Given the description of an element on the screen output the (x, y) to click on. 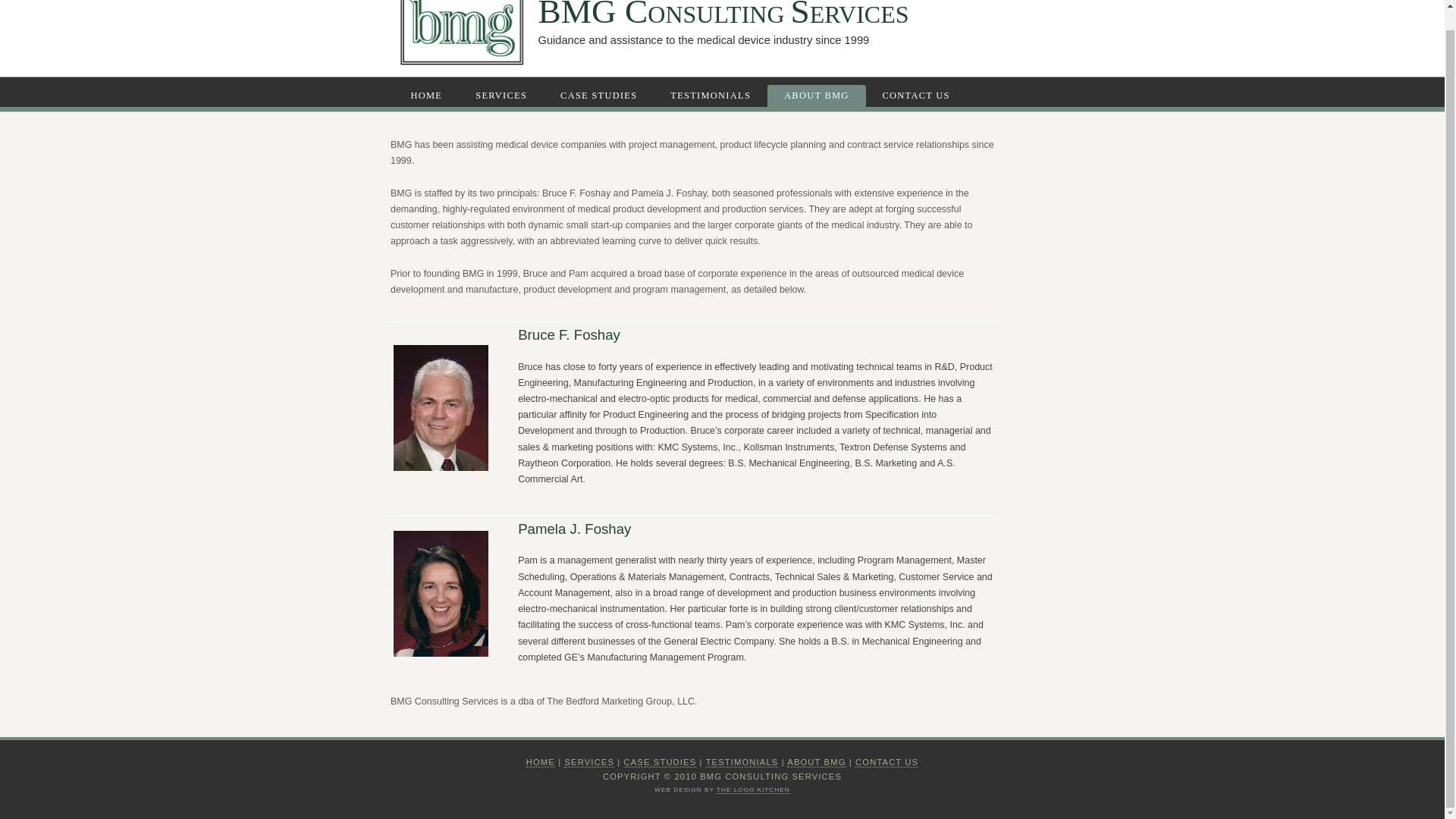
HOME (539, 762)
TESTIMONIALS (742, 762)
HOME (429, 95)
BMG CONSULTING SERVICES (723, 15)
TESTIMONIALS (712, 95)
THE LOGO KITCHEN (753, 789)
CONTACT US (887, 762)
CASE STUDIES (600, 95)
CONTACT US (918, 95)
ABOUT BMG (816, 762)
